Given the description of an element on the screen output the (x, y) to click on. 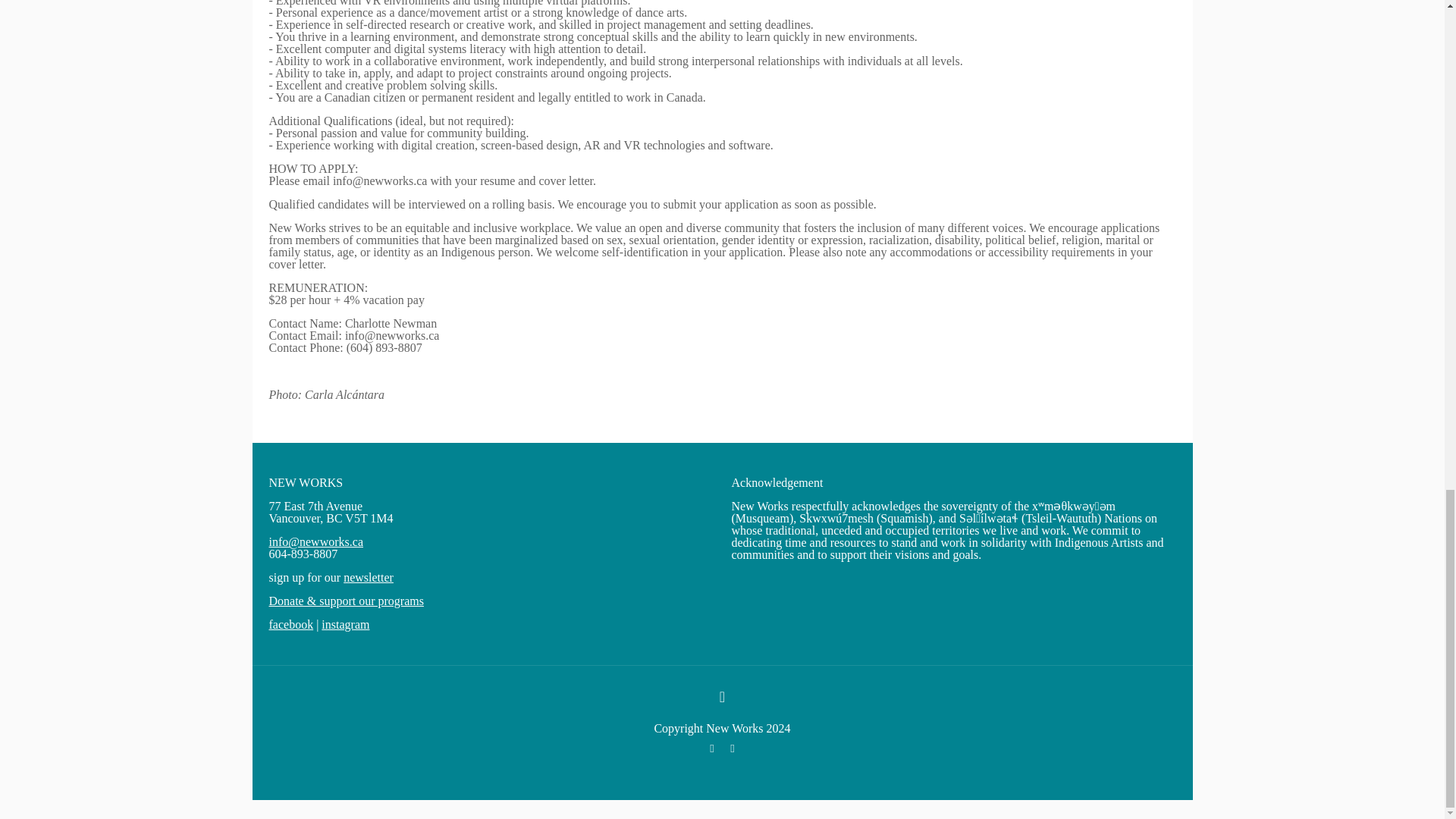
instagram (345, 624)
newsletter (368, 576)
Facebook (711, 748)
facebook (290, 624)
Instagram (733, 748)
